Given the description of an element on the screen output the (x, y) to click on. 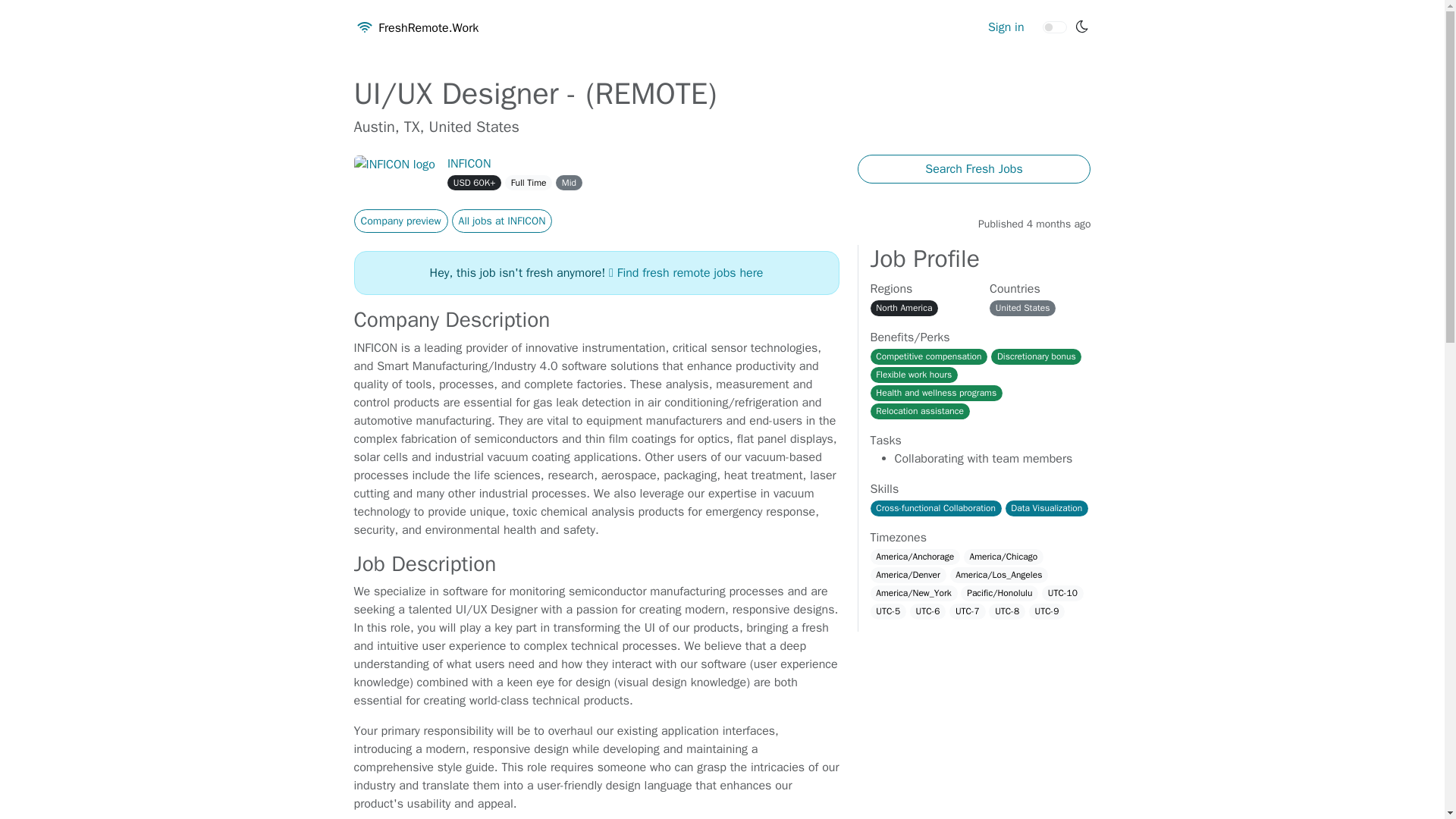
UTC-6 (928, 611)
UTC-9 (1047, 611)
UTC-5 (888, 611)
North America (904, 307)
Full Time (528, 182)
UTC-8 (1006, 611)
View all Mid remote jobs (569, 182)
Competitive compensation (929, 355)
View all Full Time remote jobs (528, 182)
